Given the description of an element on the screen output the (x, y) to click on. 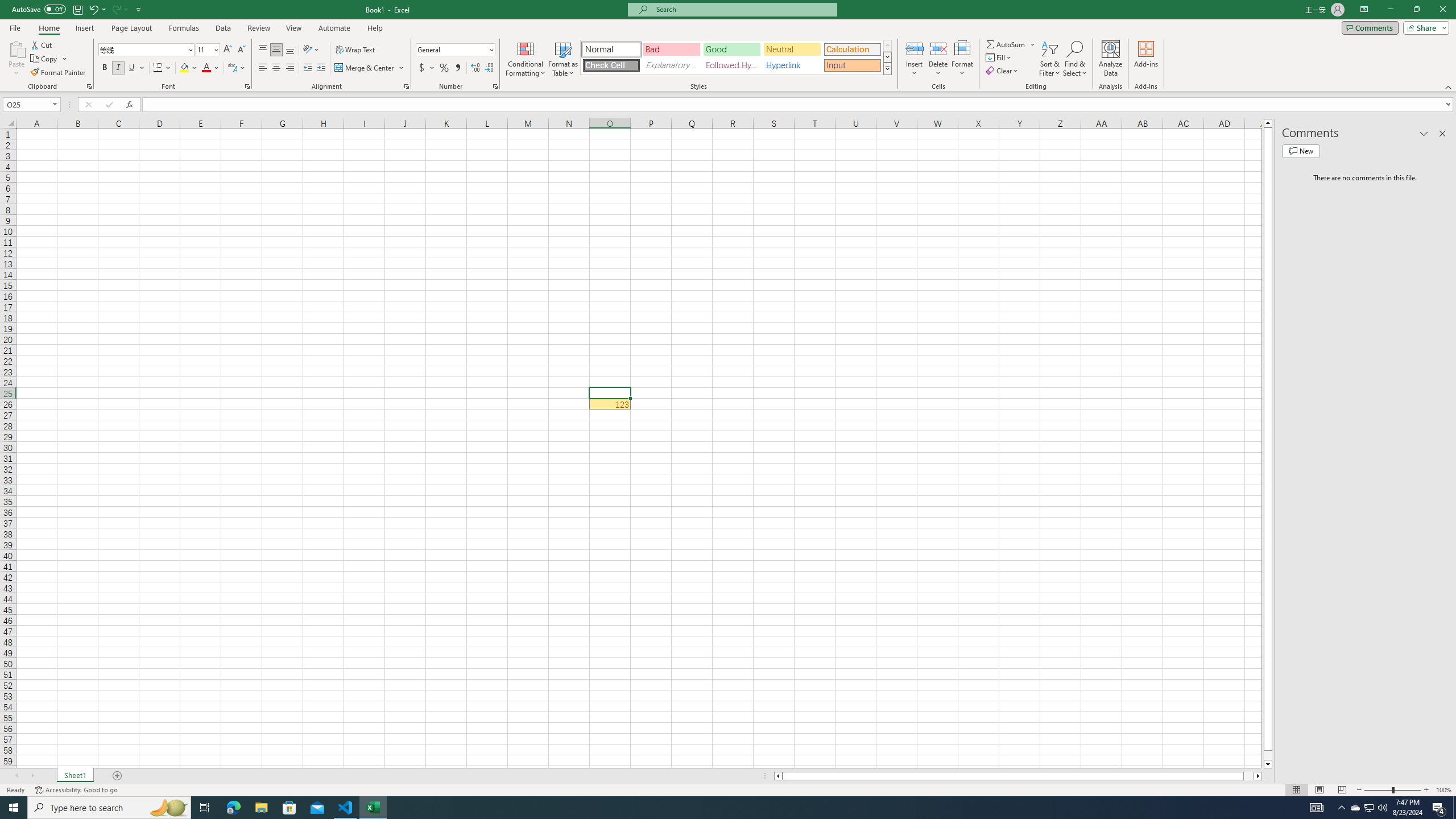
AutomationID: CellStylesGallery (736, 57)
Borders (162, 67)
Bold (104, 67)
Task Pane Options (1423, 133)
Top Align (262, 49)
Merge & Center (369, 67)
Row Down (887, 56)
Underline (136, 67)
Accounting Number Format (422, 67)
Number Format (451, 49)
